Given the description of an element on the screen output the (x, y) to click on. 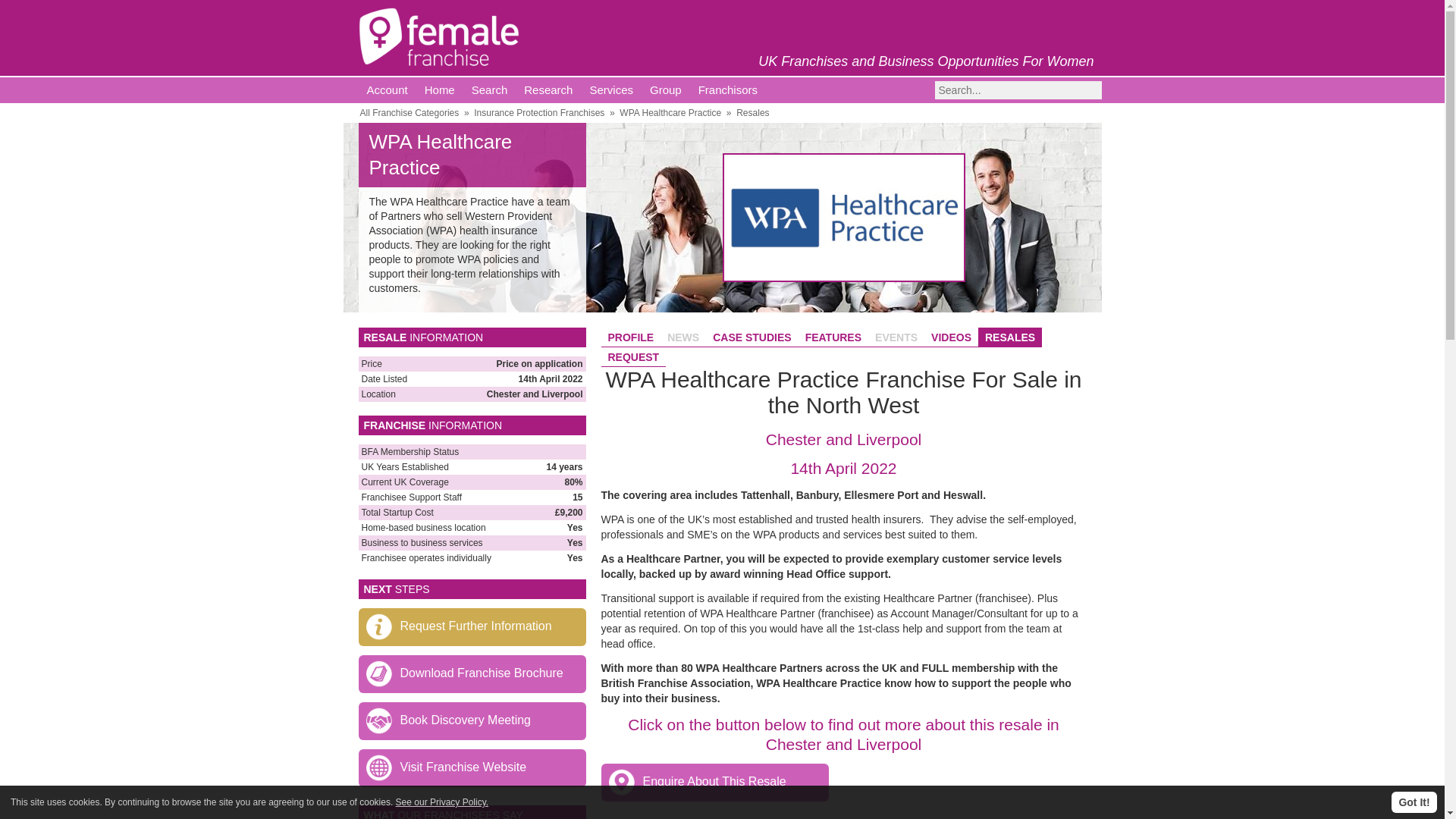
Group (666, 89)
All Franchise Categories (408, 112)
Resales (752, 112)
Research (547, 89)
Download Franchise Brochure (471, 673)
Account (386, 89)
WPA Healthcare Practice (670, 112)
Services (611, 89)
Book Discovery Meeting (471, 720)
Search (489, 89)
